Given the description of an element on the screen output the (x, y) to click on. 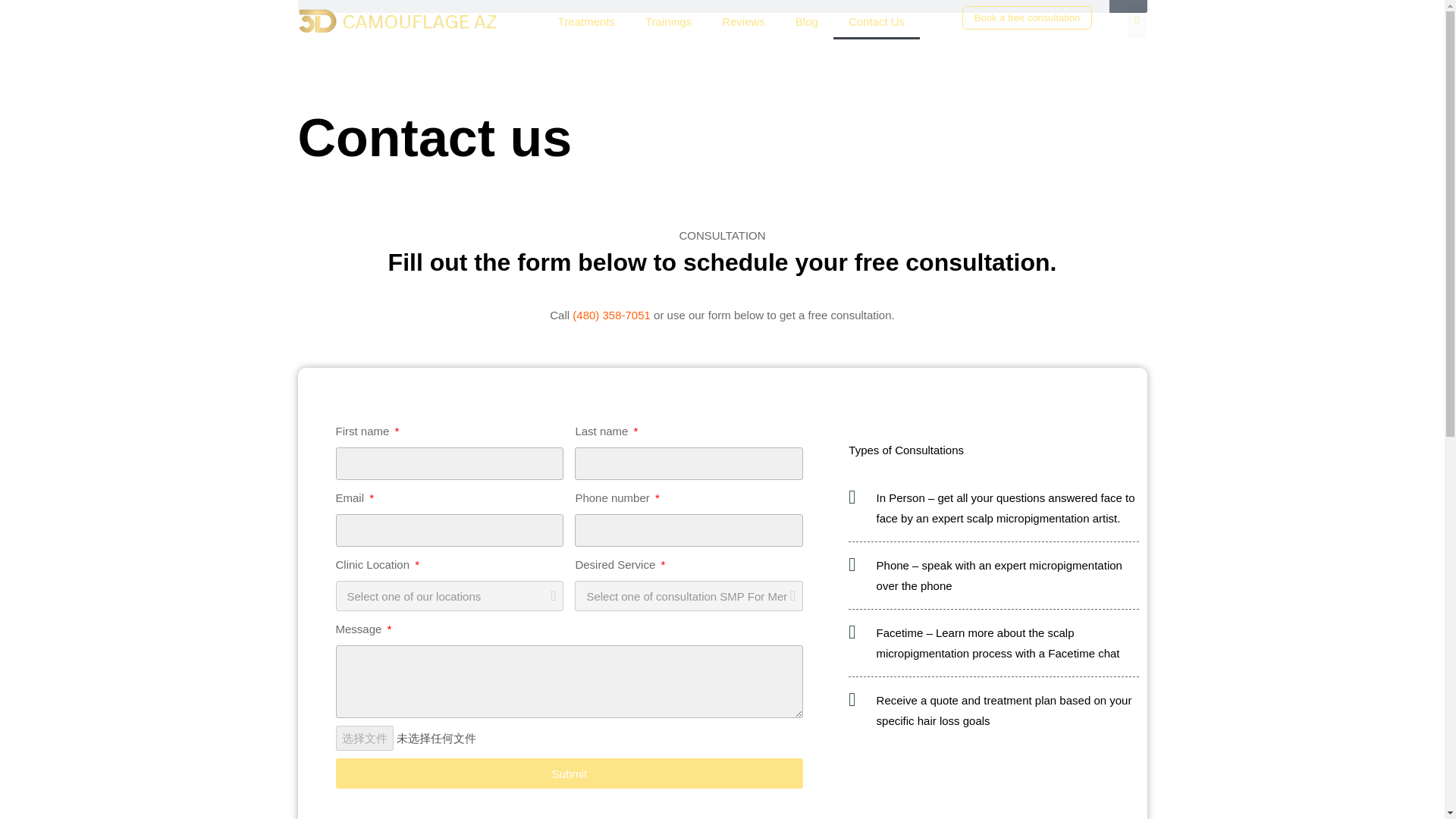
Treatments (586, 21)
Reviews (743, 21)
Contact Us (876, 21)
Blog (806, 21)
Book a free consultation (1027, 17)
Trainings (668, 21)
